Given the description of an element on the screen output the (x, y) to click on. 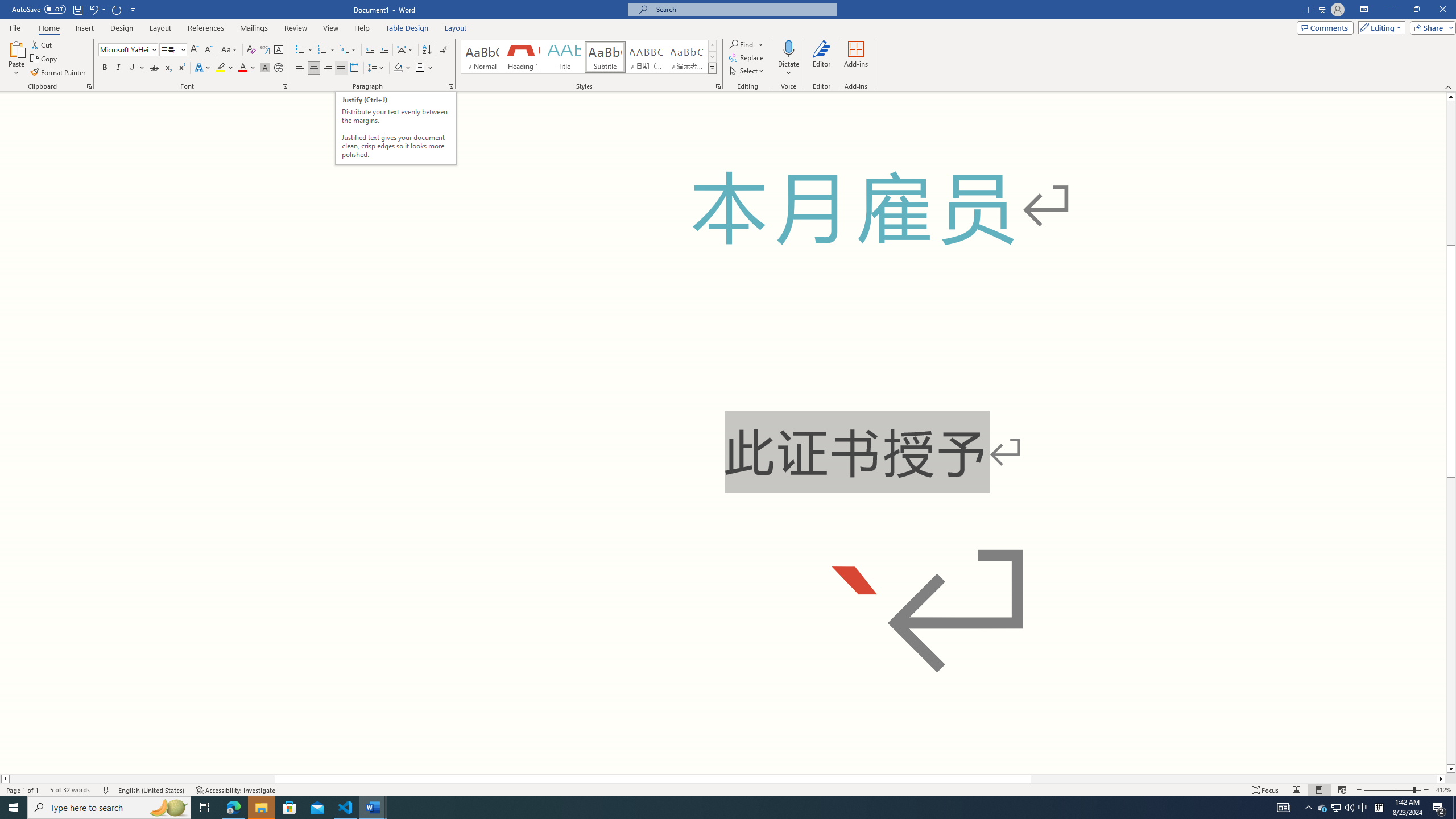
Center (313, 67)
Copy (45, 58)
Grow Font (193, 49)
Editor (821, 58)
Heading 1 (522, 56)
Row up (711, 45)
